Given the description of an element on the screen output the (x, y) to click on. 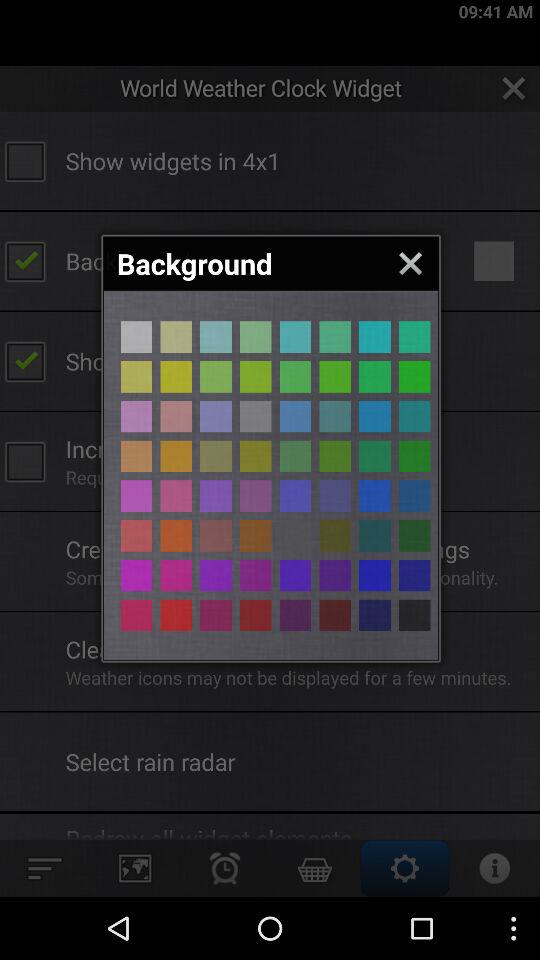
color selection (414, 535)
